Given the description of an element on the screen output the (x, y) to click on. 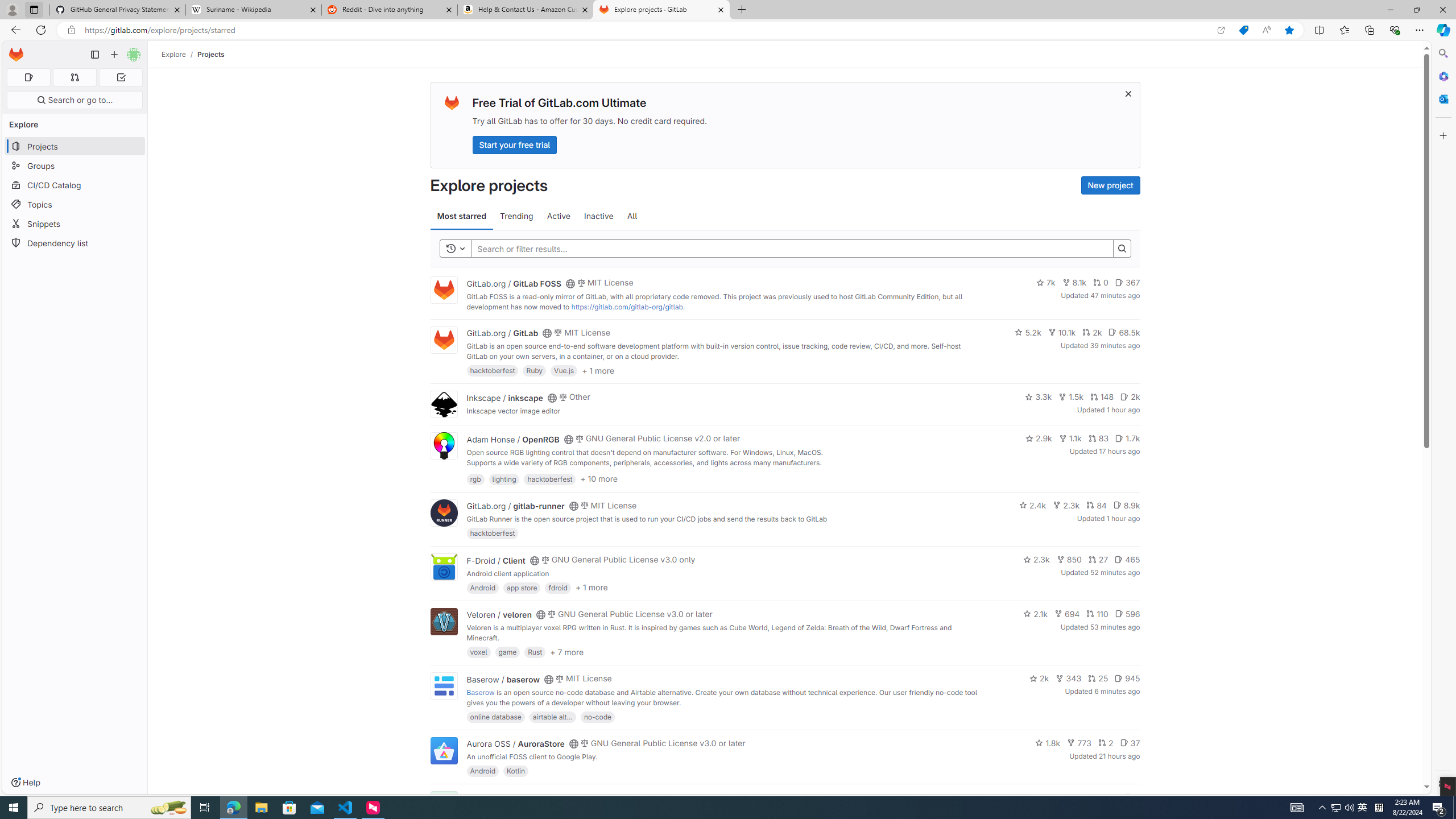
7k (1045, 282)
Snippets (74, 223)
2.1k (1035, 613)
8.1k (1073, 282)
84 (1096, 504)
Most starred (461, 216)
lighting (504, 478)
Class: s16 (568, 798)
10.1k (1061, 331)
